Given the description of an element on the screen output the (x, y) to click on. 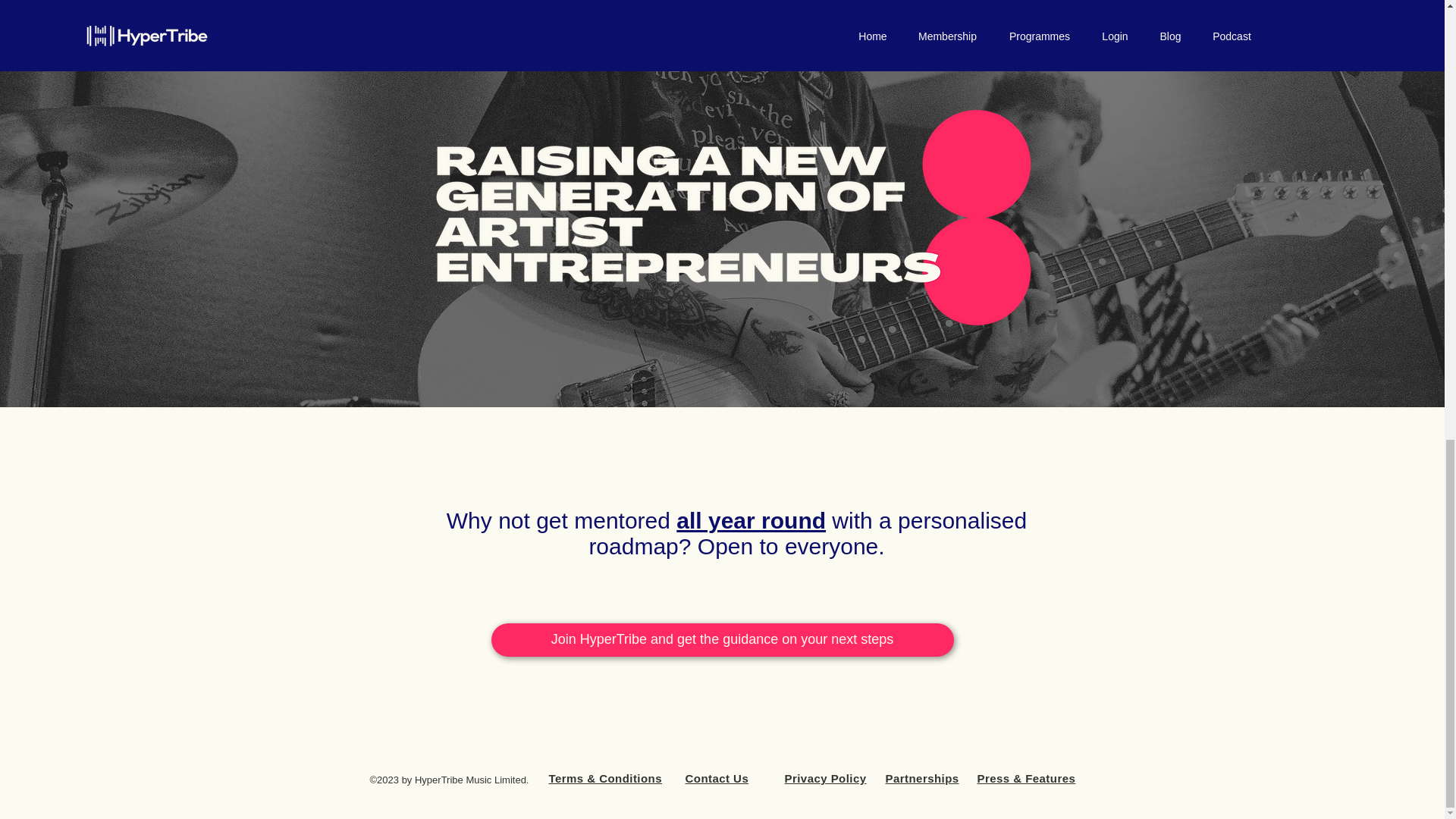
Join HyperTribe and get the guidance on your next steps (722, 639)
Privacy Policy (825, 778)
Partnerships (922, 778)
Contact Us (717, 778)
